Given the description of an element on the screen output the (x, y) to click on. 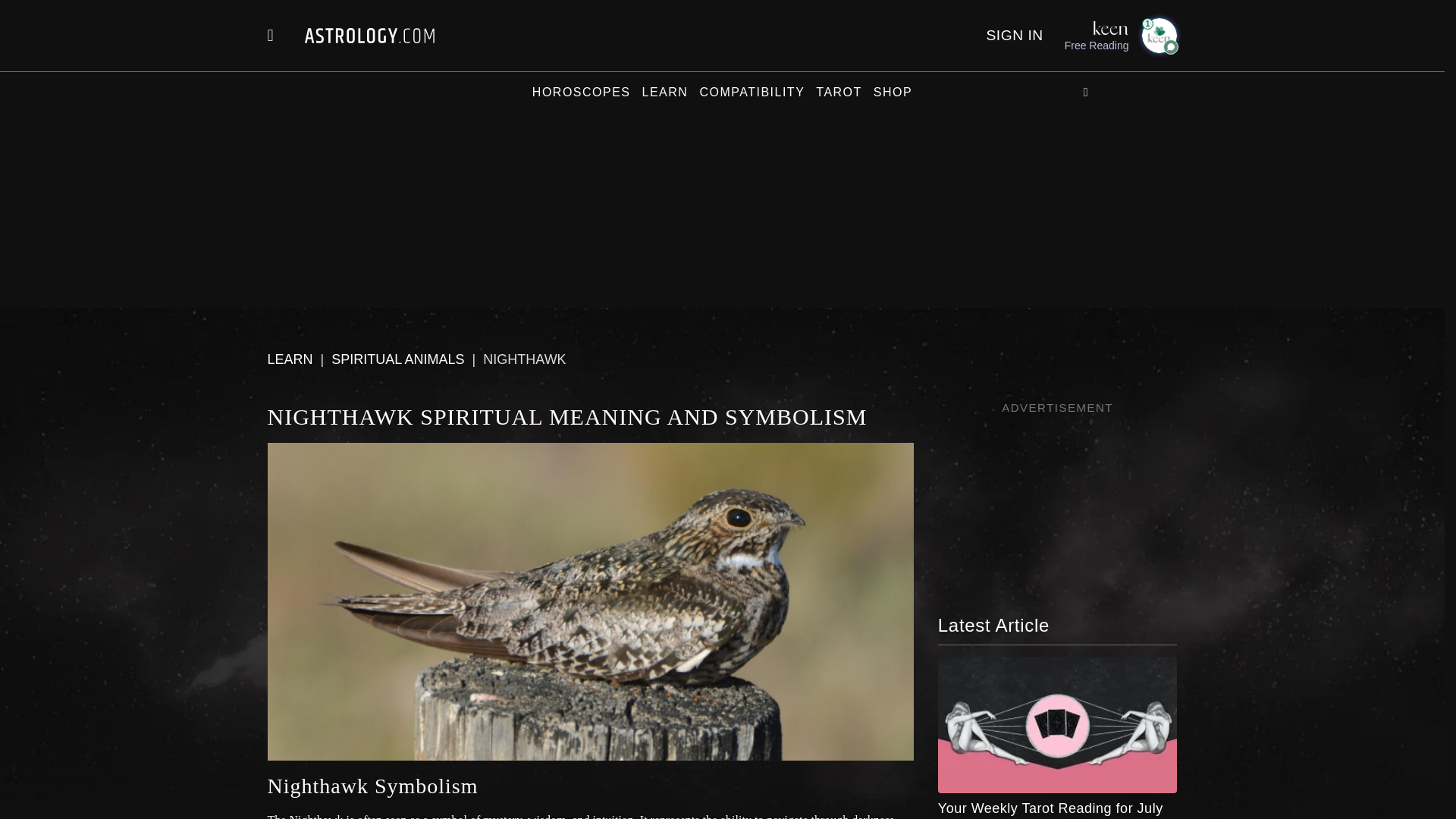
1 (1158, 35)
SIGN IN (1013, 35)
